Given the description of an element on the screen output the (x, y) to click on. 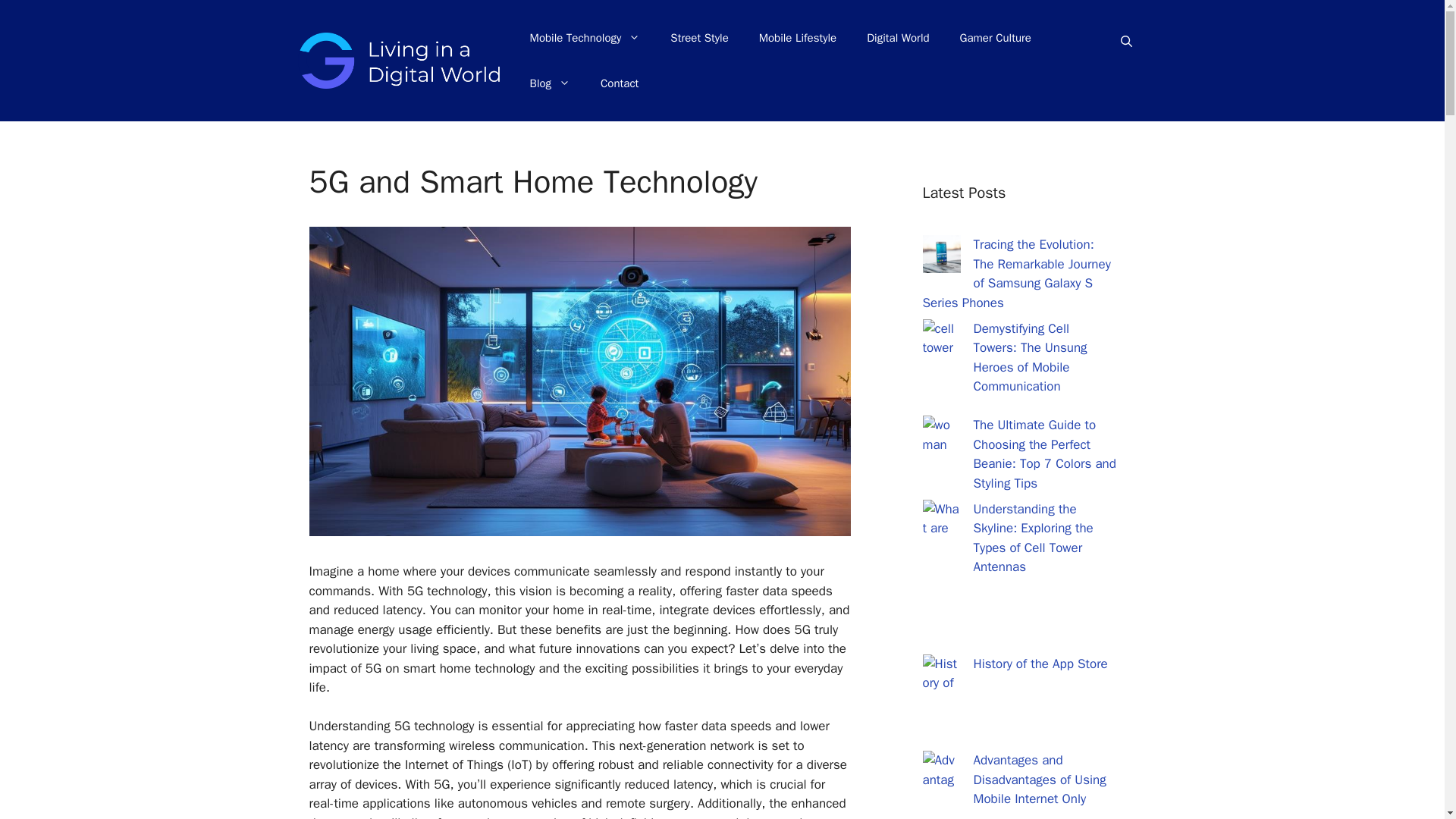
Blog (550, 83)
Gamer Culture (995, 37)
Mobile Technology (585, 37)
Mobile Lifestyle (797, 37)
Advantages and Disadvantages of Using Mobile Internet Only (1040, 779)
Street Style (698, 37)
Digital World (897, 37)
Contact (619, 83)
